Given the description of an element on the screen output the (x, y) to click on. 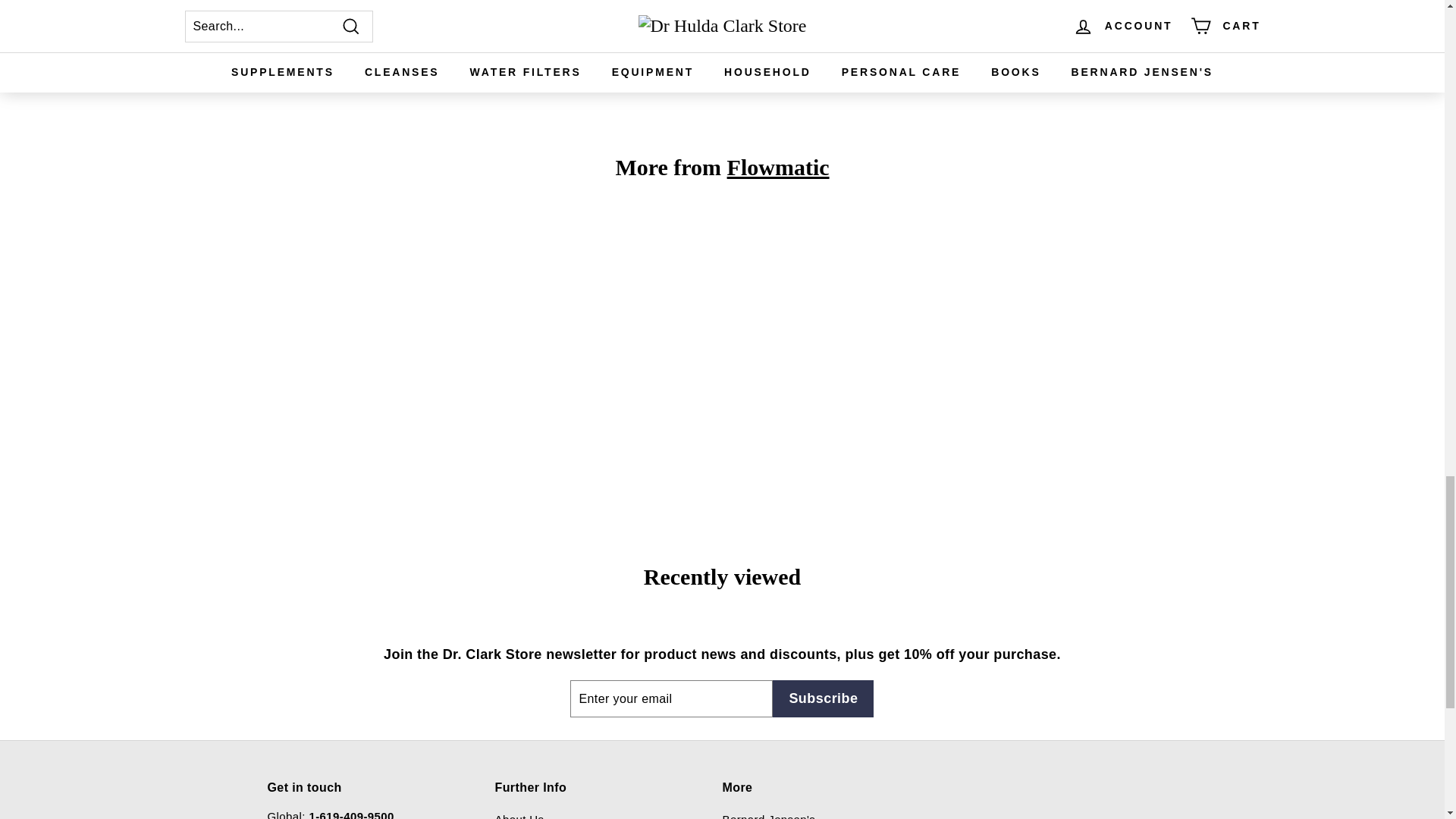
Flowmatic (777, 166)
